Given the description of an element on the screen output the (x, y) to click on. 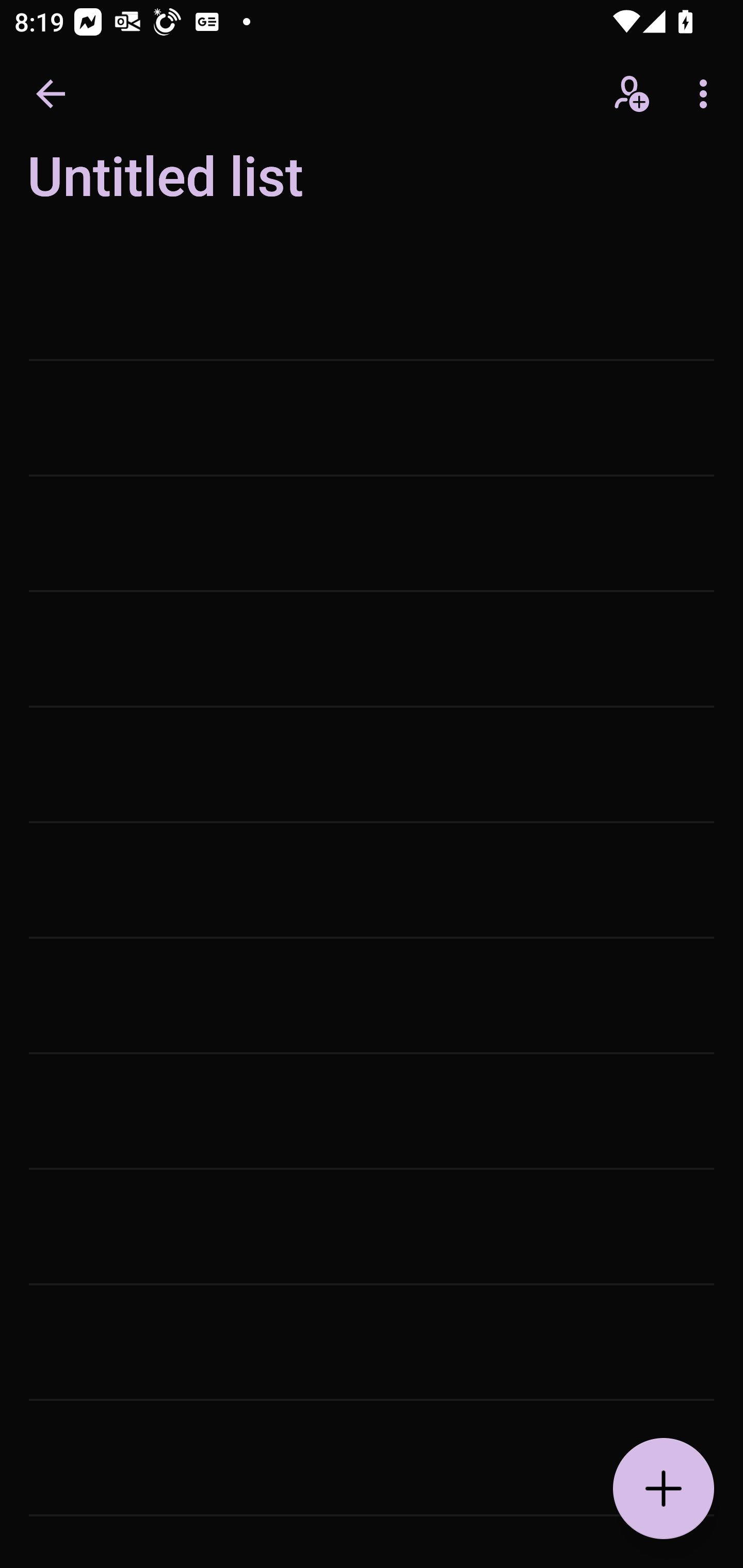
Back (50, 93)
Share list (632, 93)
More options (706, 93)
My Day, 1 tasks 1 (182, 187)
Add a task (663, 1488)
